Given the description of an element on the screen output the (x, y) to click on. 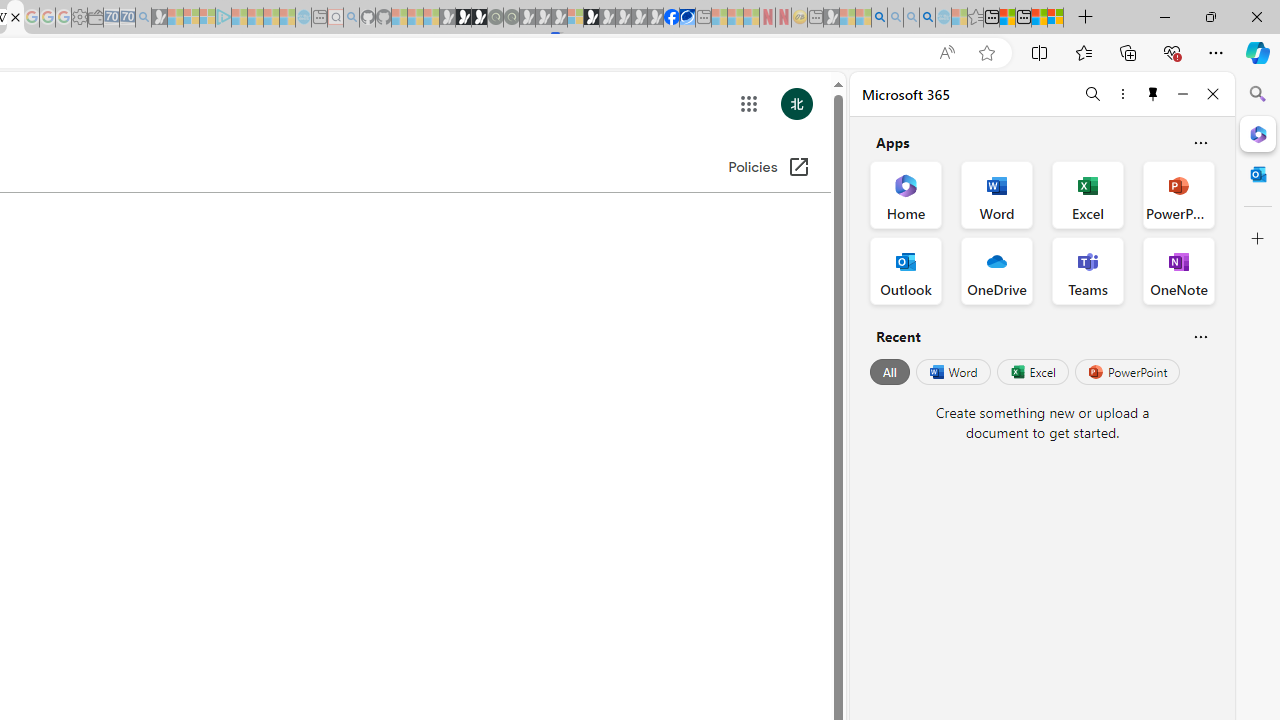
Excel (1031, 372)
Close Microsoft 365 pane (1258, 133)
Is this helpful? (1200, 336)
MSN - Sleeping (831, 17)
